Given the description of an element on the screen output the (x, y) to click on. 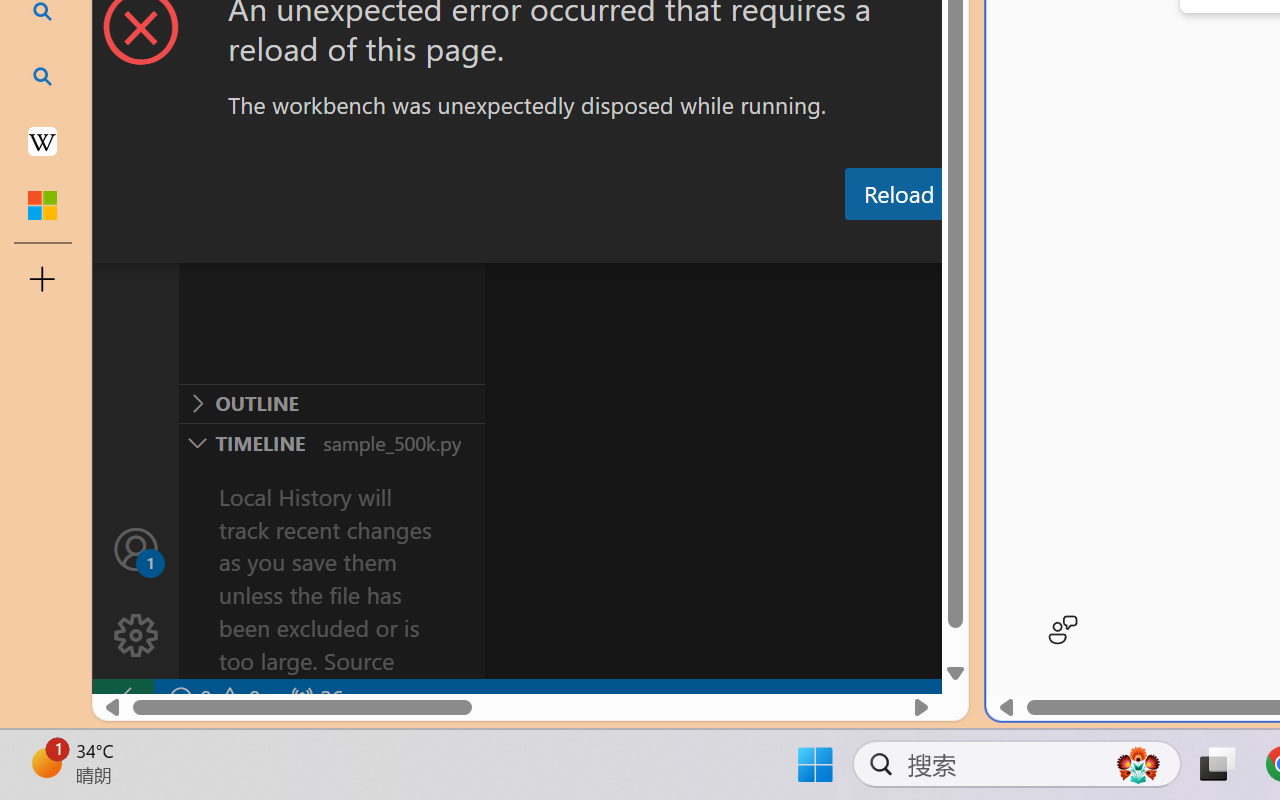
Terminal (Ctrl+`) (1021, 243)
Debug Console (Ctrl+Shift+Y) (854, 243)
Accounts - Sign in requested (135, 548)
Manage (135, 591)
Timeline Section (331, 442)
Outline Section (331, 403)
